Given the description of an element on the screen output the (x, y) to click on. 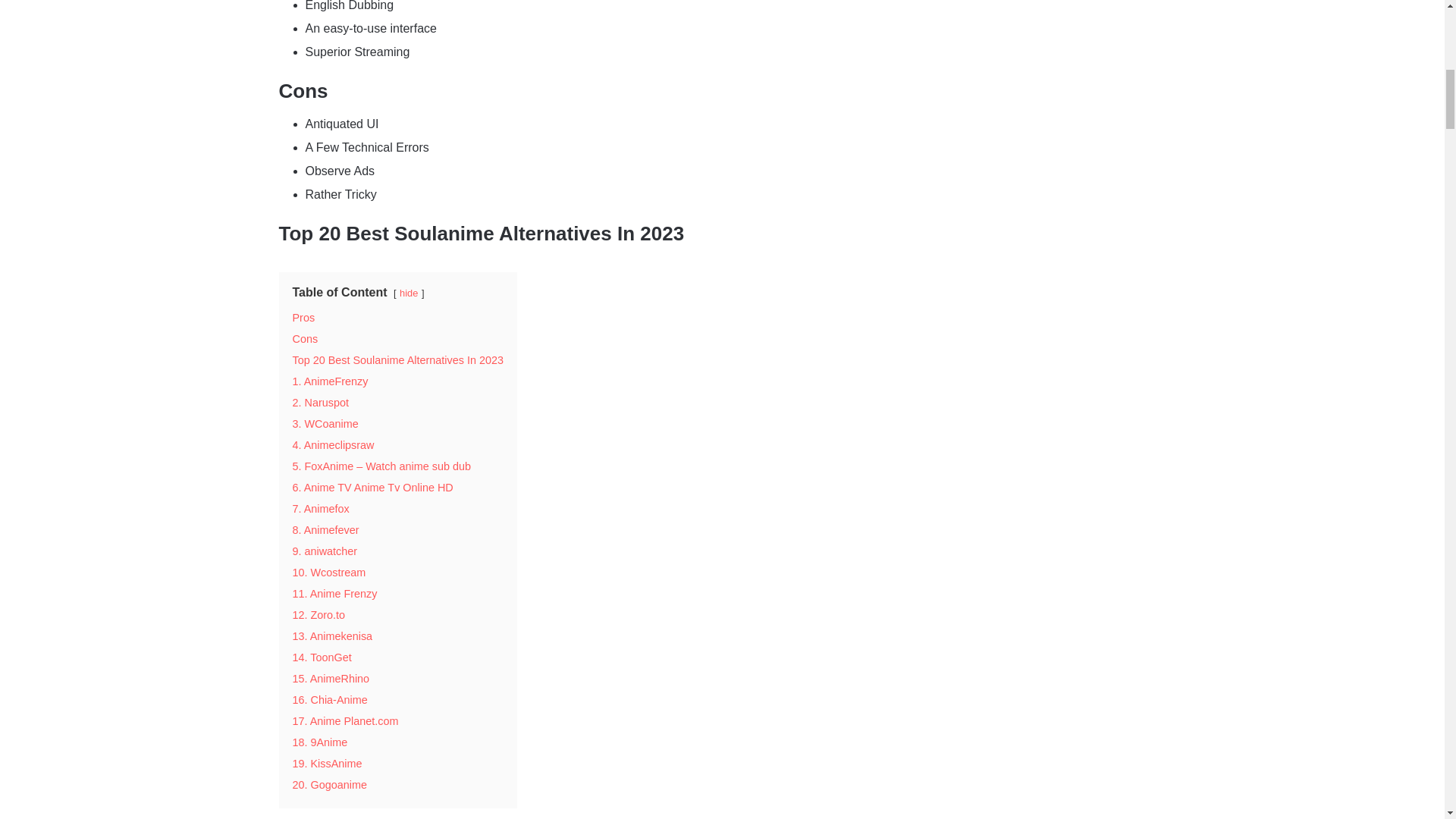
2. Naruspot (320, 402)
Cons (305, 338)
3. WCoanime (325, 423)
Pros (303, 317)
12. Zoro.to (319, 614)
hide (407, 292)
1. AnimeFrenzy (330, 381)
6. Anime TV Anime Tv Online HD (372, 487)
8. Animefever (325, 530)
15. AnimeRhino (330, 678)
Top 20 Best Soulanime Alternatives In 2023 (397, 359)
4. Animeclipsraw (333, 444)
11. Anime Frenzy (334, 593)
10. Wcostream (329, 572)
13. Animekenisa (332, 635)
